Given the description of an element on the screen output the (x, y) to click on. 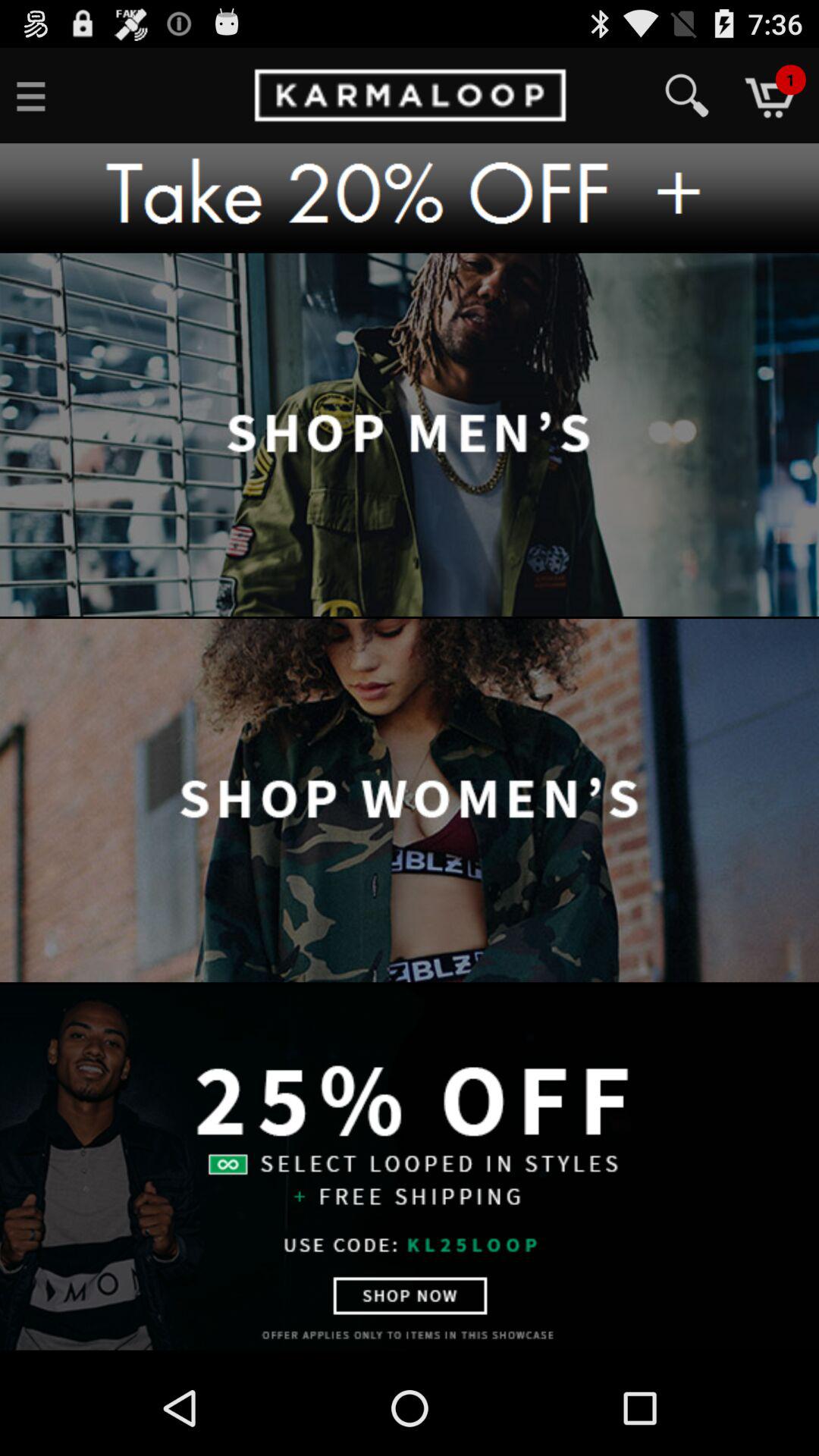
discount banner (409, 198)
